Given the description of an element on the screen output the (x, y) to click on. 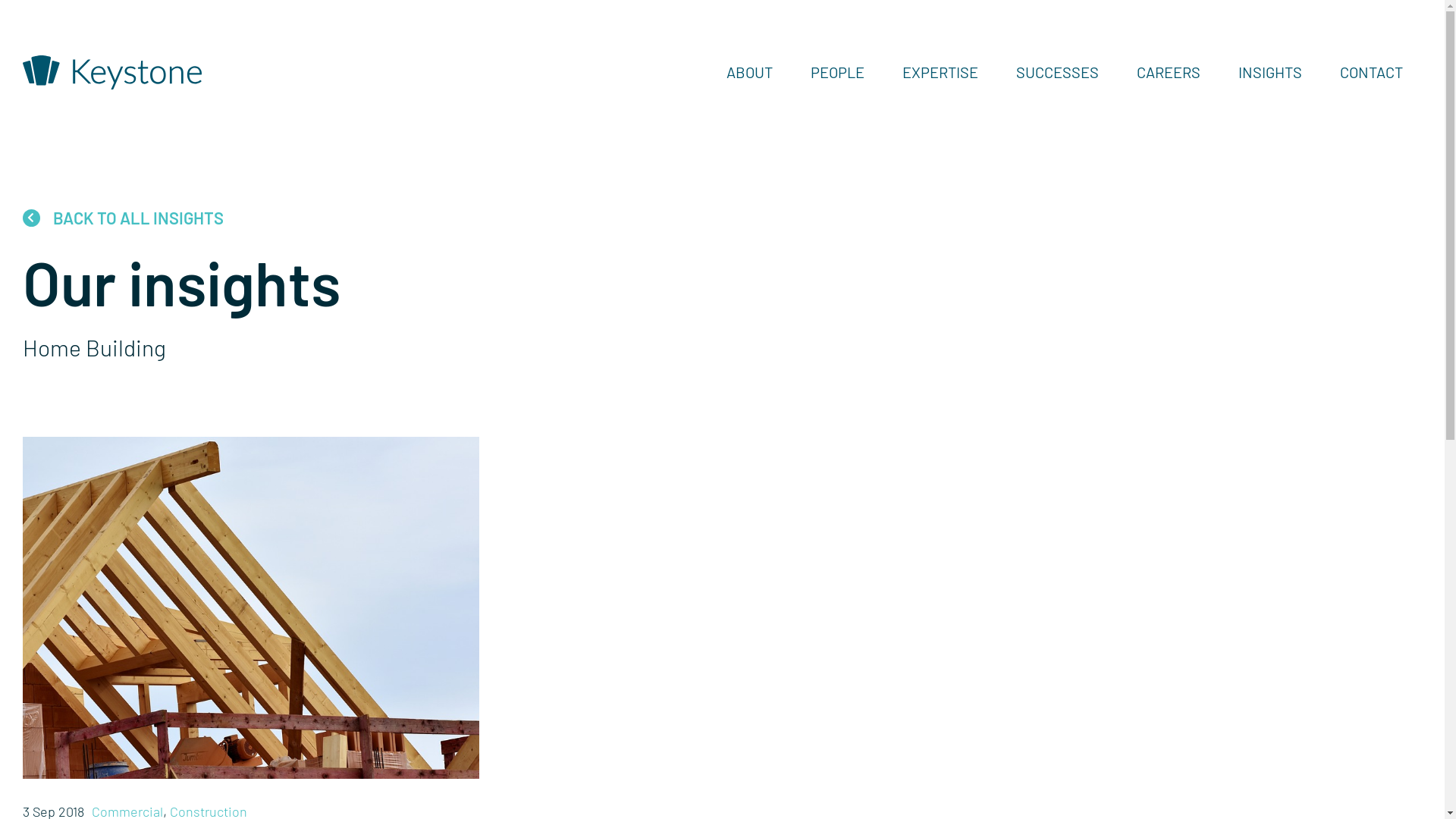
CONTACT Element type: text (1371, 72)
SUCCESSES Element type: text (1057, 72)
CAREERS Element type: text (1168, 72)
PEOPLE Element type: text (837, 72)
BACK TO ALL INSIGHTS Element type: text (122, 217)
ABOUT Element type: text (749, 72)
EXPERTISE Element type: text (940, 72)
INSIGHTS Element type: text (1270, 72)
